Given the description of an element on the screen output the (x, y) to click on. 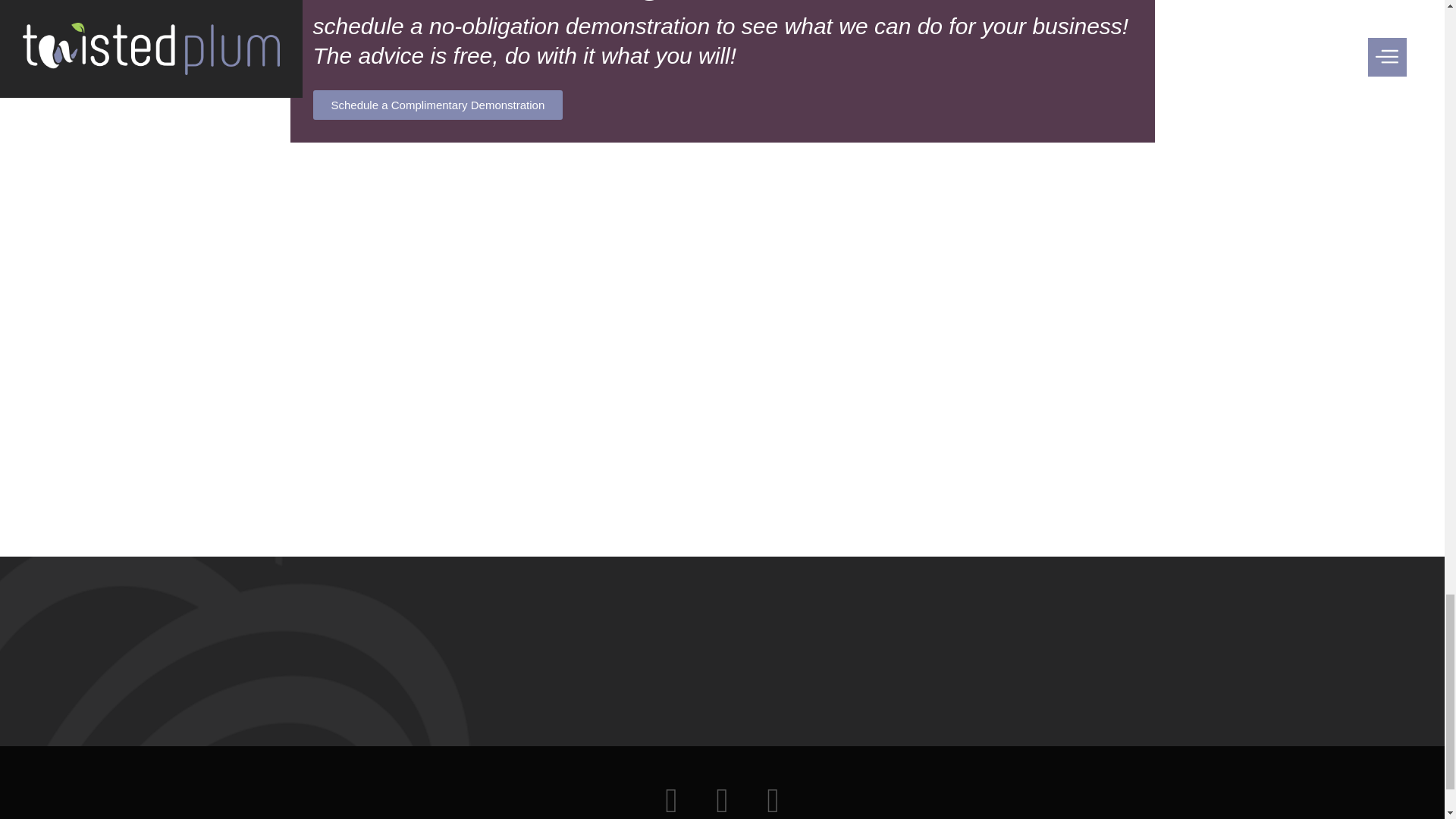
Schedule a Complimentary Demonstration (437, 104)
